Given the description of an element on the screen output the (x, y) to click on. 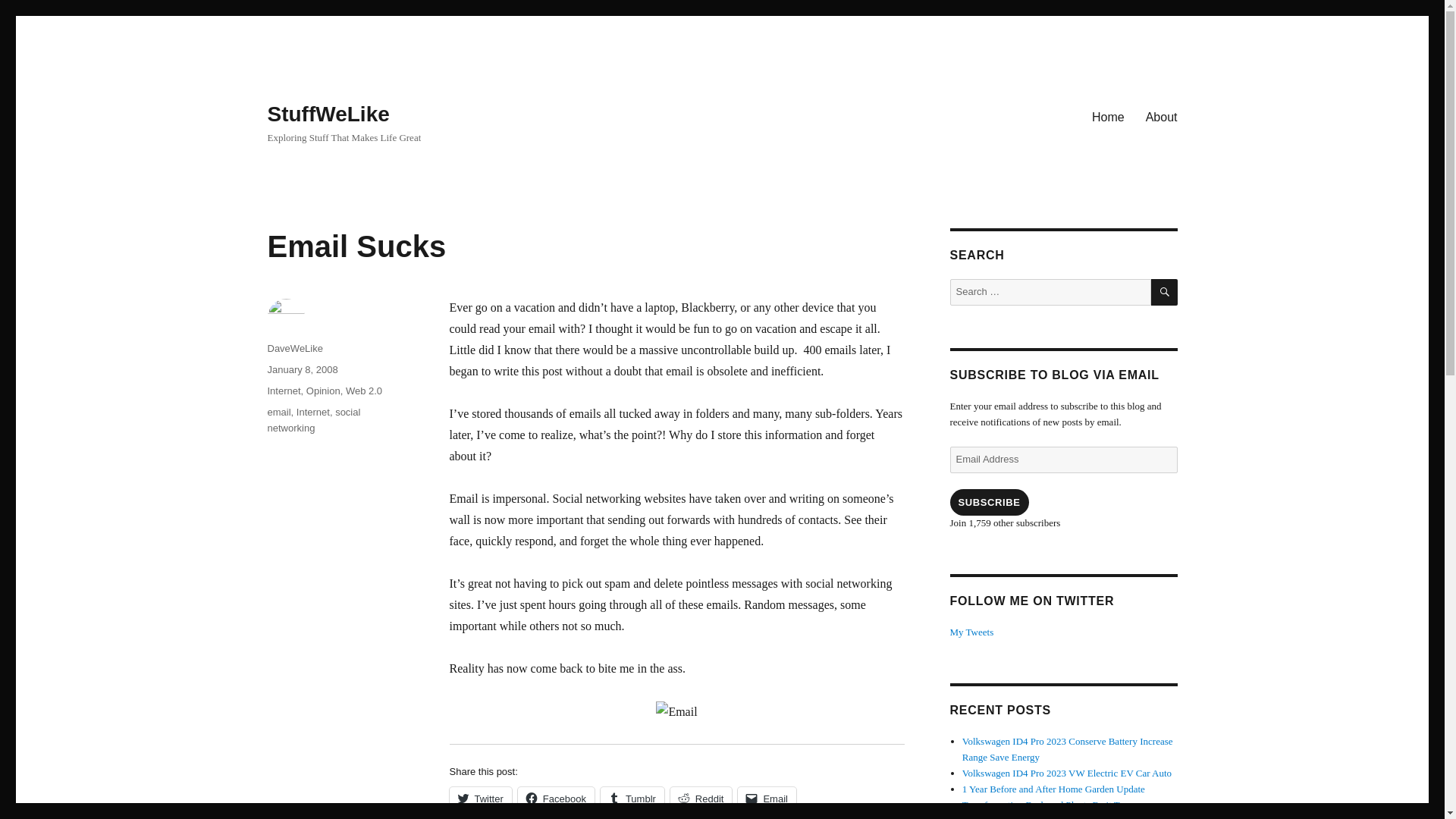
Twitter (479, 798)
Tumblr (631, 798)
social networking (312, 420)
StuffWeLike (327, 114)
Web 2.0 (363, 390)
About (1161, 116)
Click to share on Tumblr (631, 798)
Click to share on Twitter (479, 798)
Internet (282, 390)
